Given the description of an element on the screen output the (x, y) to click on. 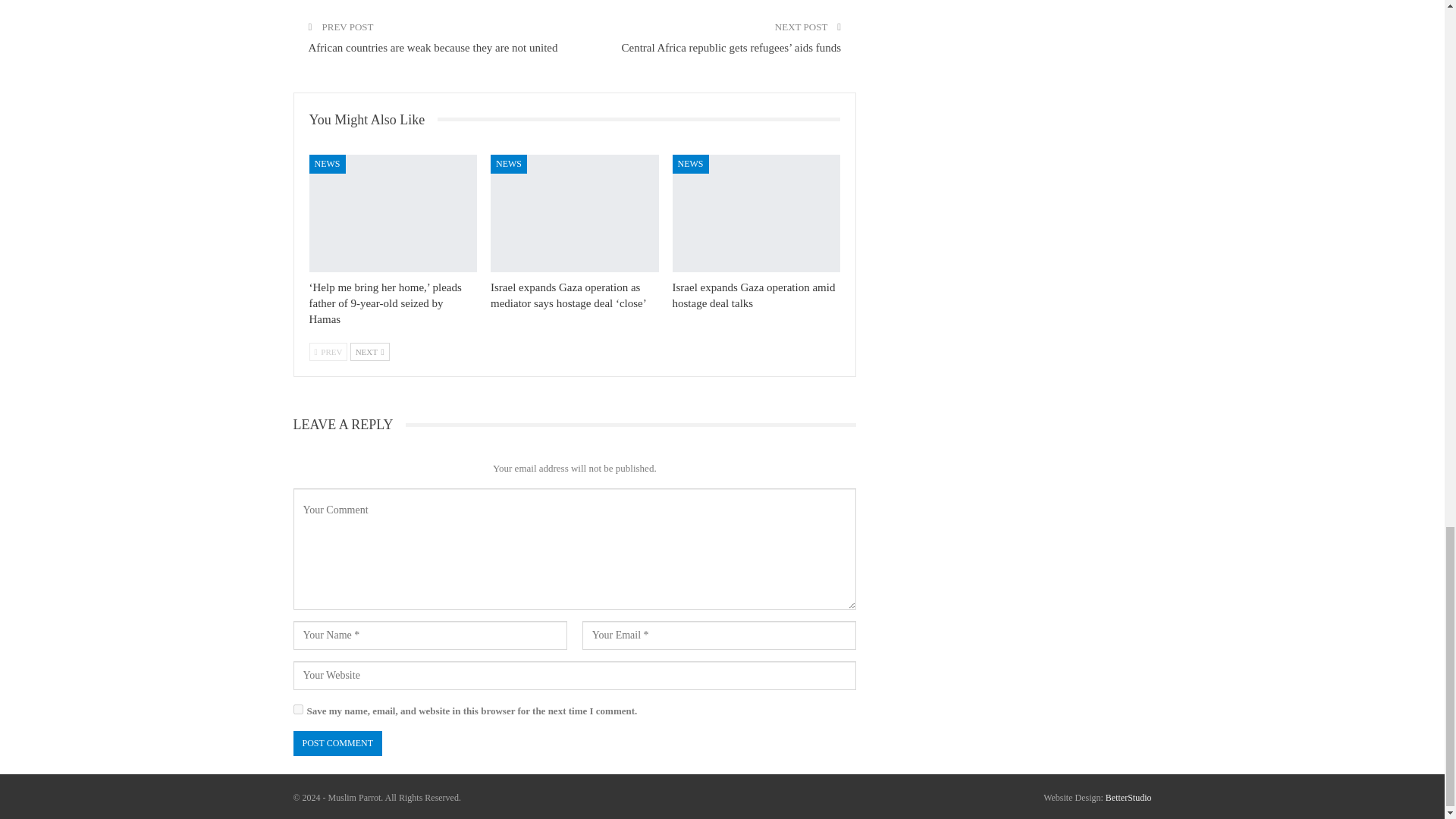
Israel expands Gaza operation amid hostage deal talks (756, 212)
Israel expands Gaza operation amid hostage deal talks (753, 295)
yes (297, 709)
Post Comment (336, 743)
